Given the description of an element on the screen output the (x, y) to click on. 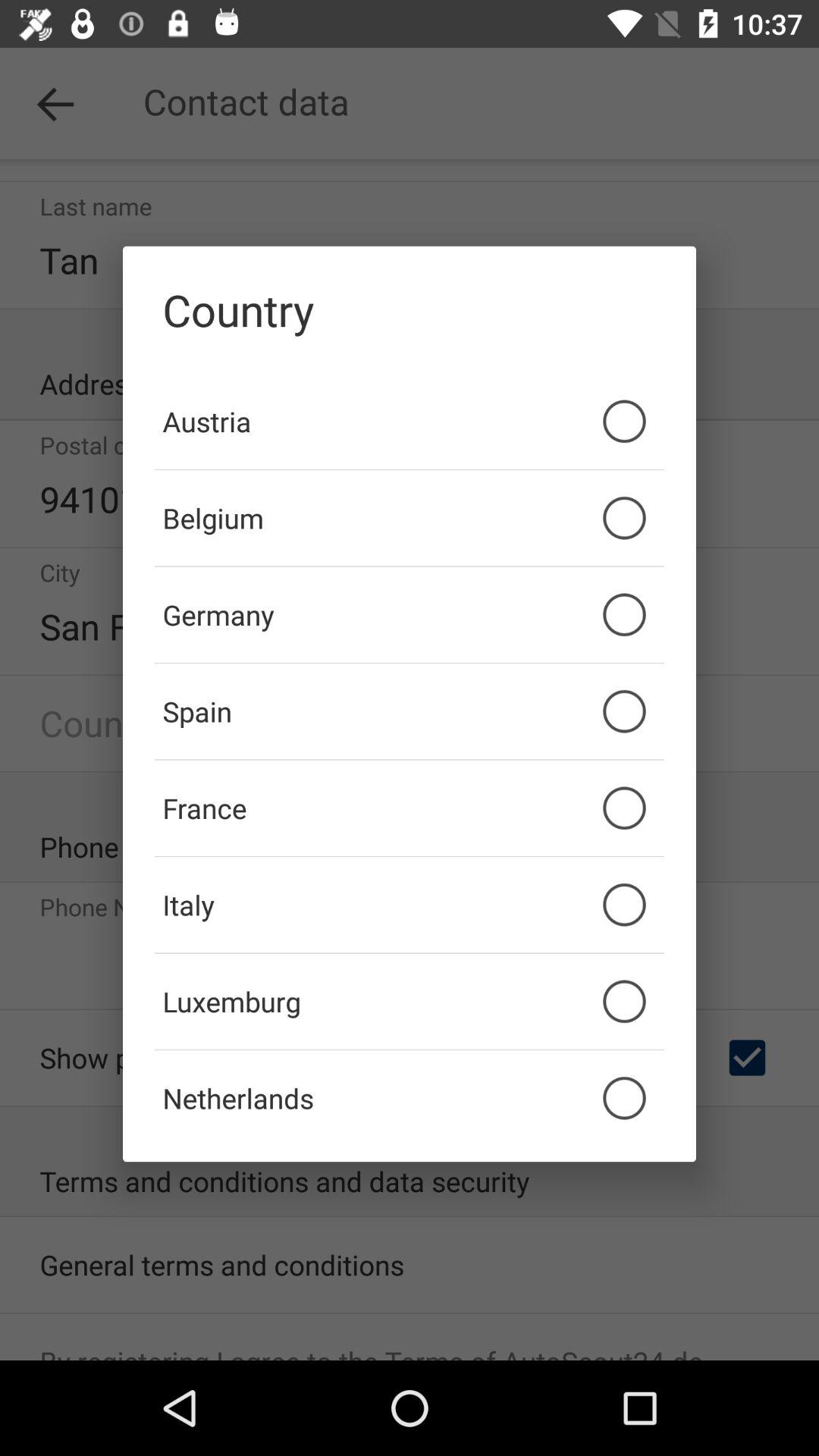
scroll until the germany icon (409, 614)
